Given the description of an element on the screen output the (x, y) to click on. 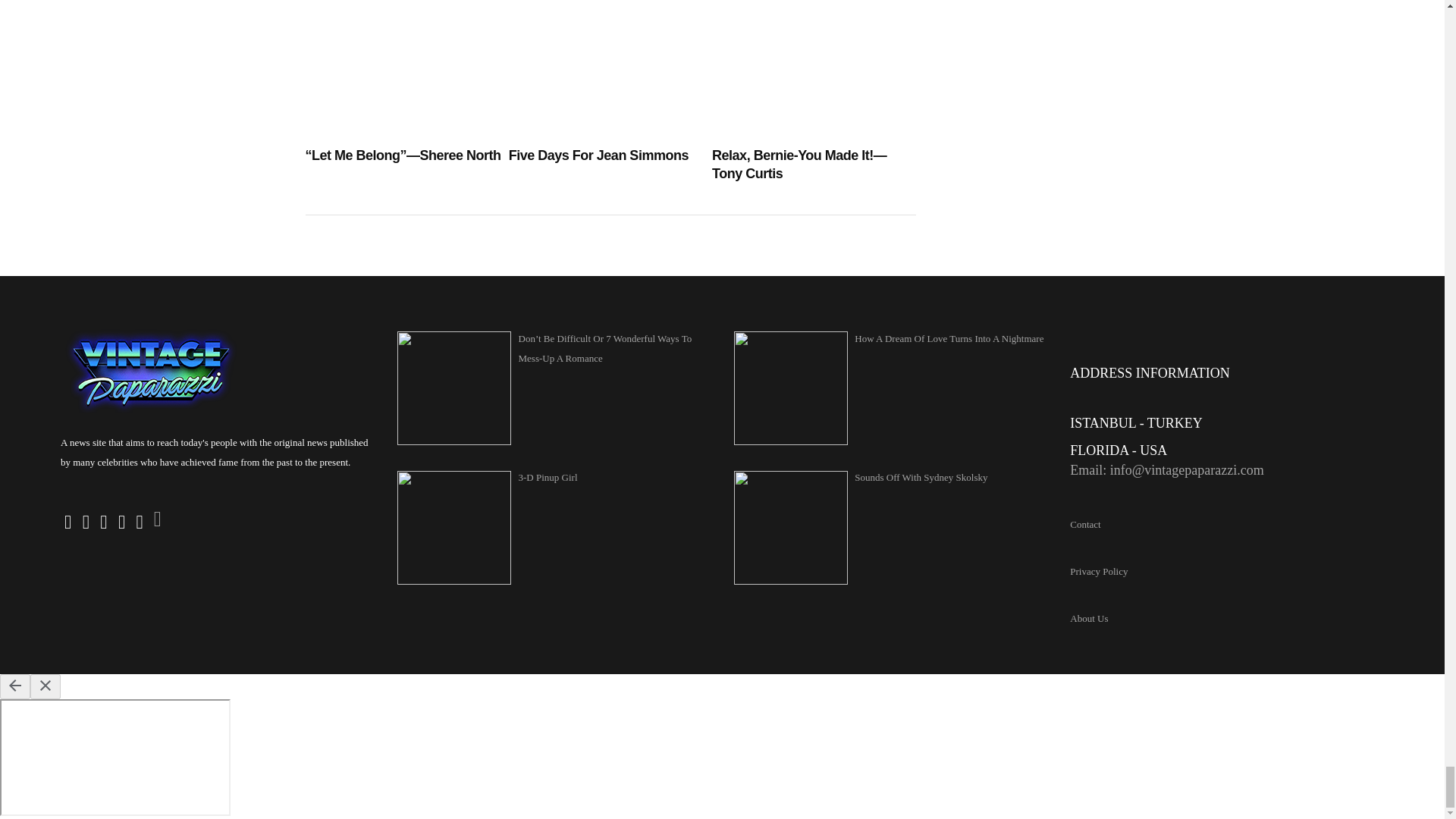
Five Days For Jean Simmons (609, 155)
